Given the description of an element on the screen output the (x, y) to click on. 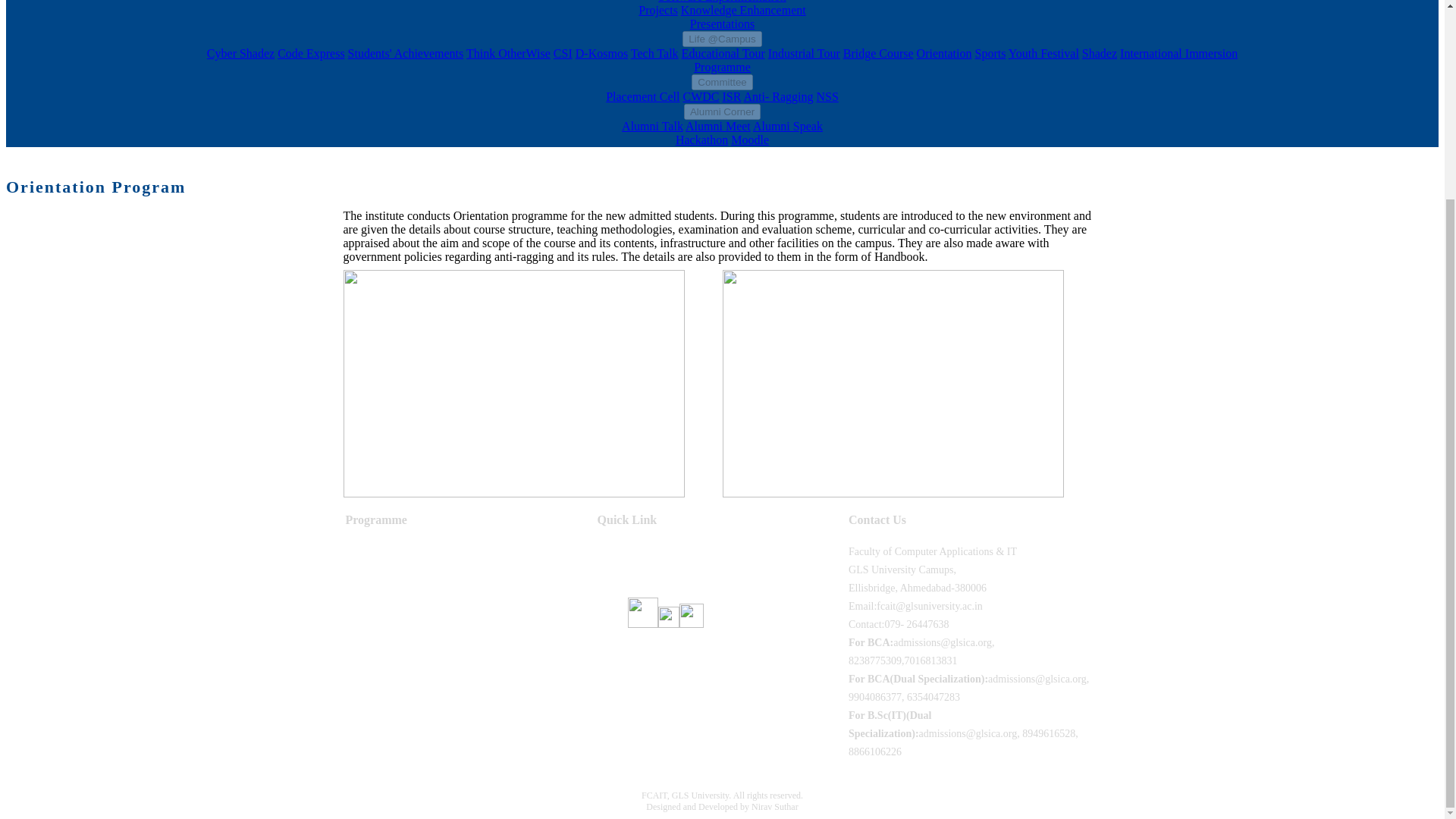
Code Express (310, 52)
Alumni Corner (722, 111)
Bridge Course (878, 52)
Educational Tour (723, 52)
Placement Cell (642, 96)
CSI (965, 59)
Cyber Shadez (562, 52)
Think OtherWise (743, 17)
